Given the description of an element on the screen output the (x, y) to click on. 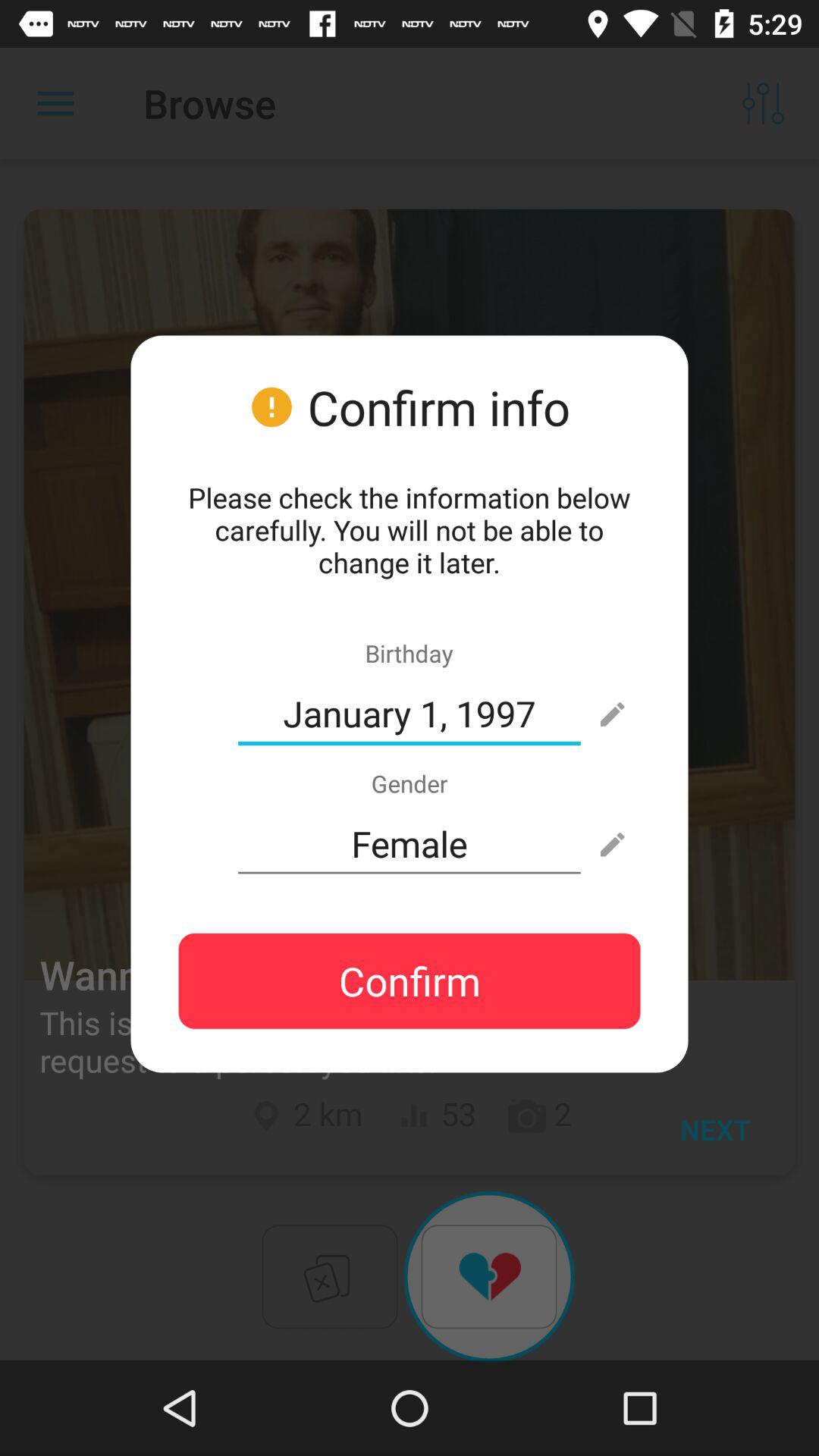
swipe until the january 1, 1997 (409, 714)
